Given the description of an element on the screen output the (x, y) to click on. 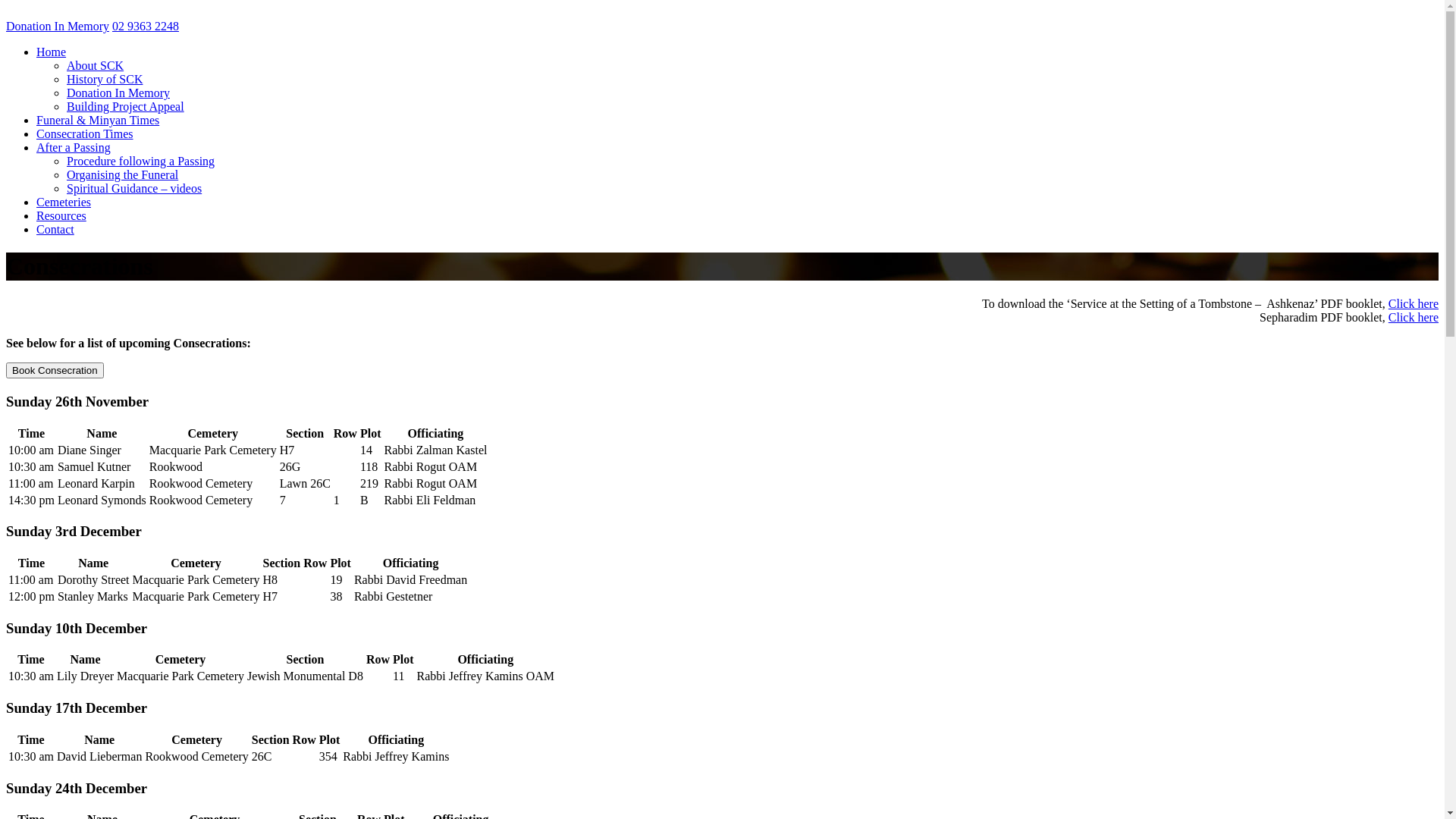
Cemeteries Element type: text (63, 201)
About SCK Element type: text (94, 65)
Donation In Memory Element type: text (57, 25)
Procedure following a Passing Element type: text (140, 160)
Funeral & Minyan Times Element type: text (97, 119)
Building Project Appeal Element type: text (125, 106)
Contact Element type: text (55, 228)
Organising the Funeral Element type: text (122, 174)
Resources Element type: text (61, 215)
Donation In Memory Element type: text (117, 92)
Click here Element type: text (1413, 303)
Click here Element type: text (1413, 316)
02 9363 2248 Element type: text (145, 25)
Book Consecration Element type: text (54, 370)
Home Element type: text (50, 51)
History of SCK Element type: text (104, 78)
After a Passing Element type: text (73, 147)
Consecration Times Element type: text (84, 133)
